Given the description of an element on the screen output the (x, y) to click on. 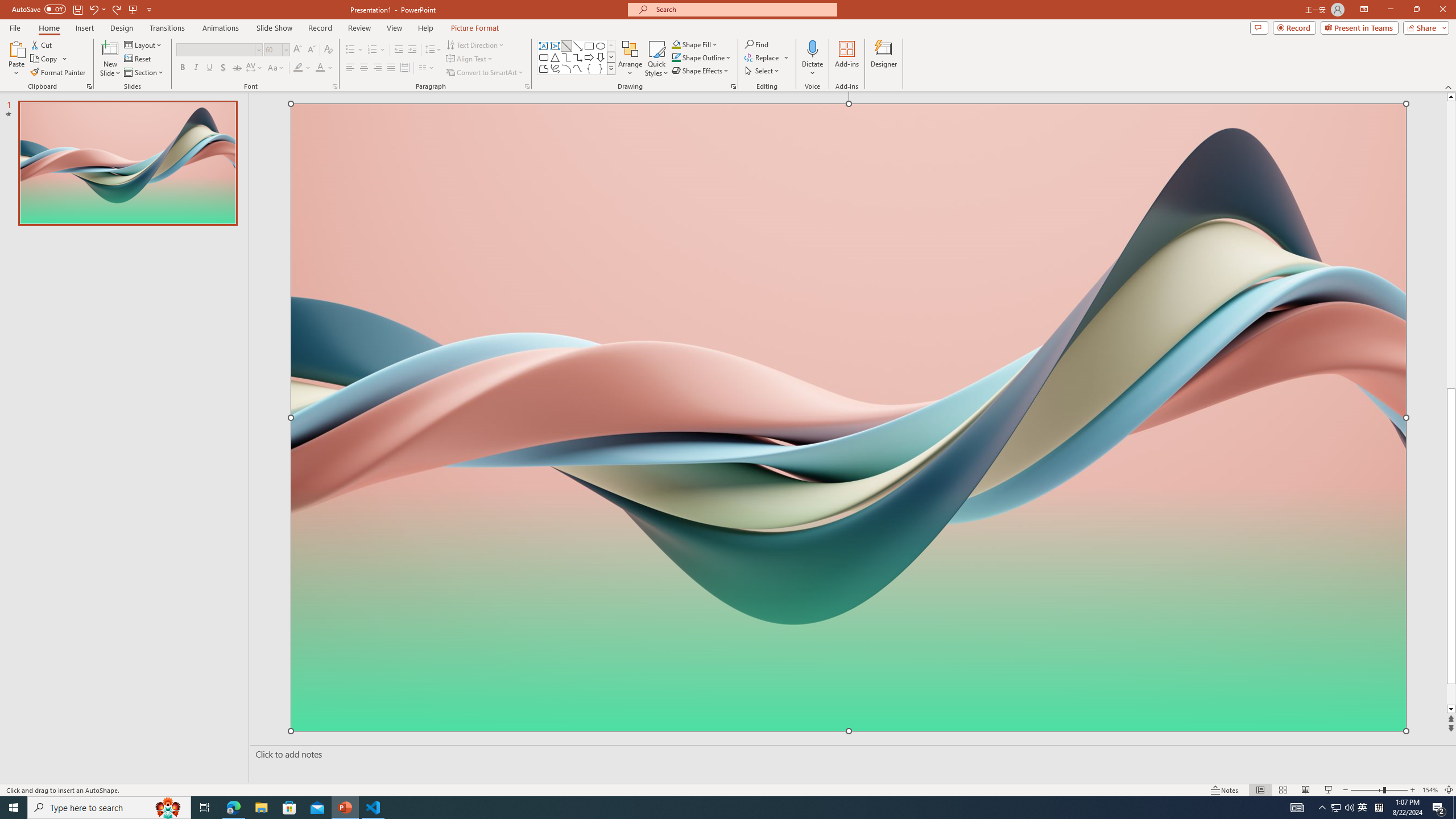
Decorative Locked (848, 588)
Wavy 3D art (848, 417)
